Given the description of an element on the screen output the (x, y) to click on. 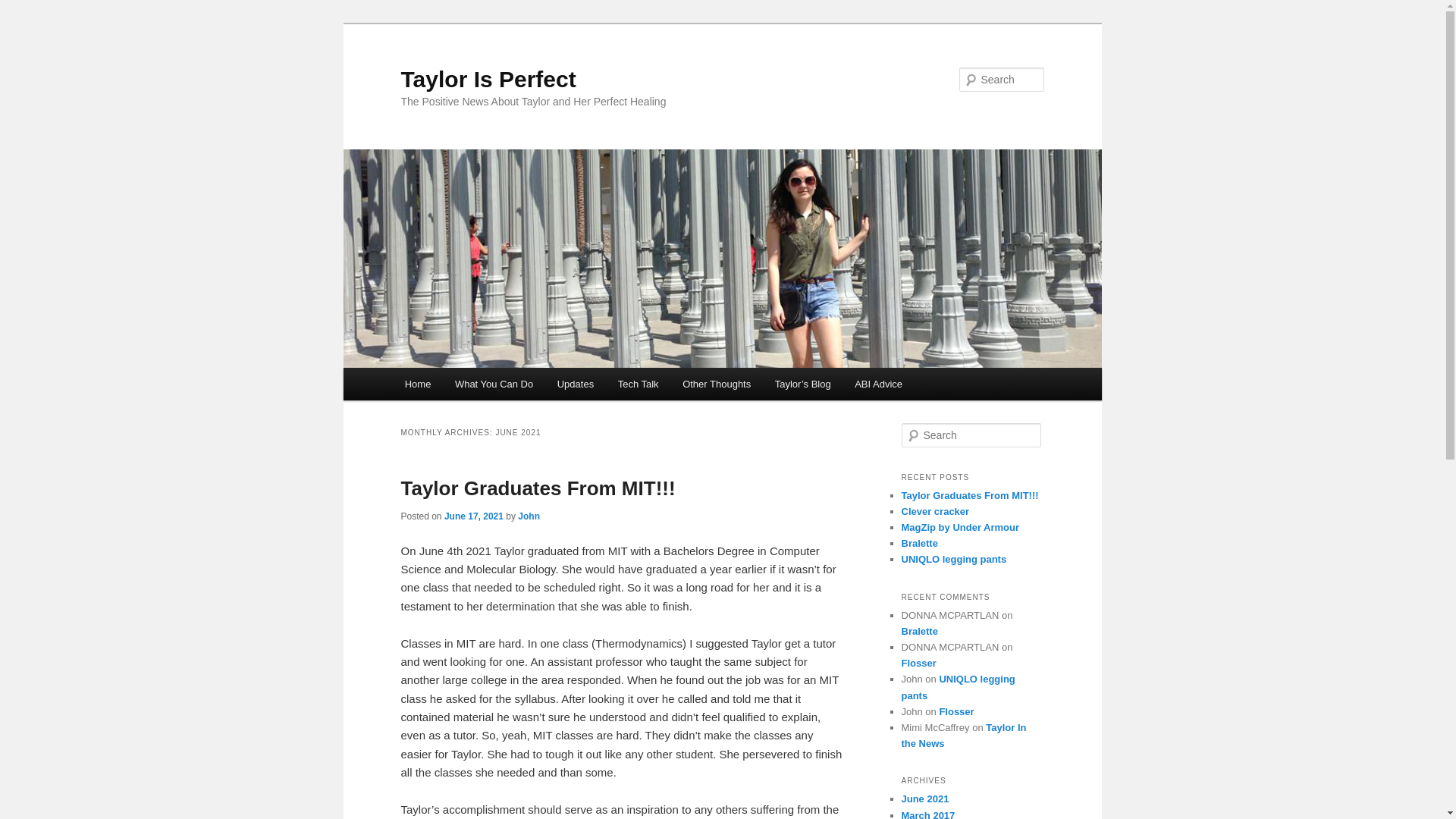
Taylor Is Perfect (487, 78)
7:52 pm (473, 516)
Clever cracker (935, 511)
ABI Advice (878, 383)
Taylor Graduates From MIT!!! (537, 487)
What You Can Do (493, 383)
UNIQLO legging pants (957, 687)
Search (24, 8)
Flosser (918, 663)
June 2021 (925, 798)
